Given the description of an element on the screen output the (x, y) to click on. 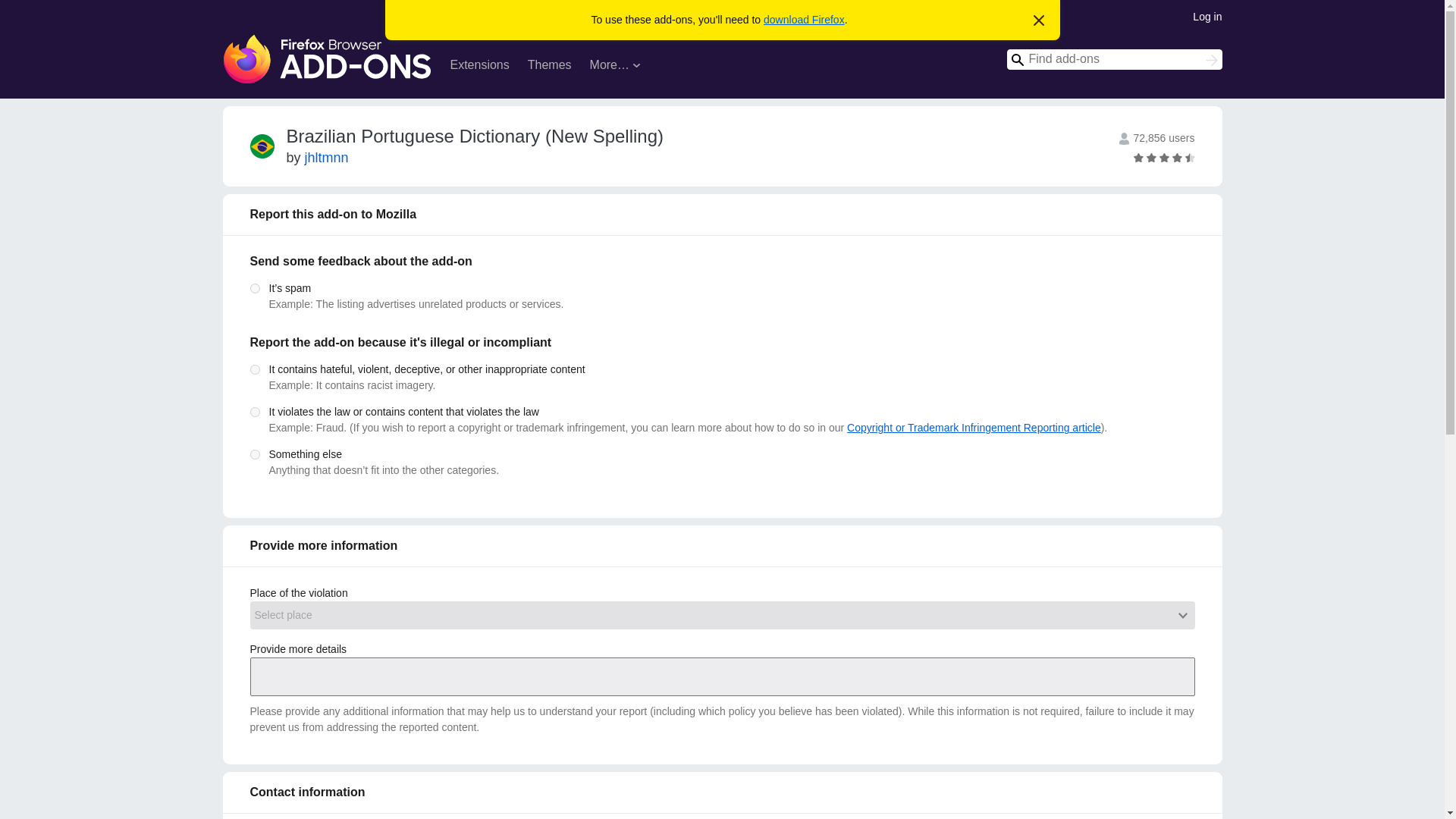
Log in (1206, 14)
download Firefox (803, 19)
Rated 4.4 out of 5 (1137, 157)
Search (1212, 61)
Rated 4.4 out of 5 (1189, 157)
Firefox Browser Add-ons (327, 59)
Rated 4.4 out of 5 (1163, 157)
Dismiss this notice (1038, 21)
Rated 4.4 out of 5 (1177, 157)
jhltmnn (326, 157)
Extensions (479, 66)
Copyright or Trademark Infringement Reporting article (973, 427)
illegal (255, 411)
Rated 4.4 out of 5 (1162, 157)
Themes (549, 66)
